Given the description of an element on the screen output the (x, y) to click on. 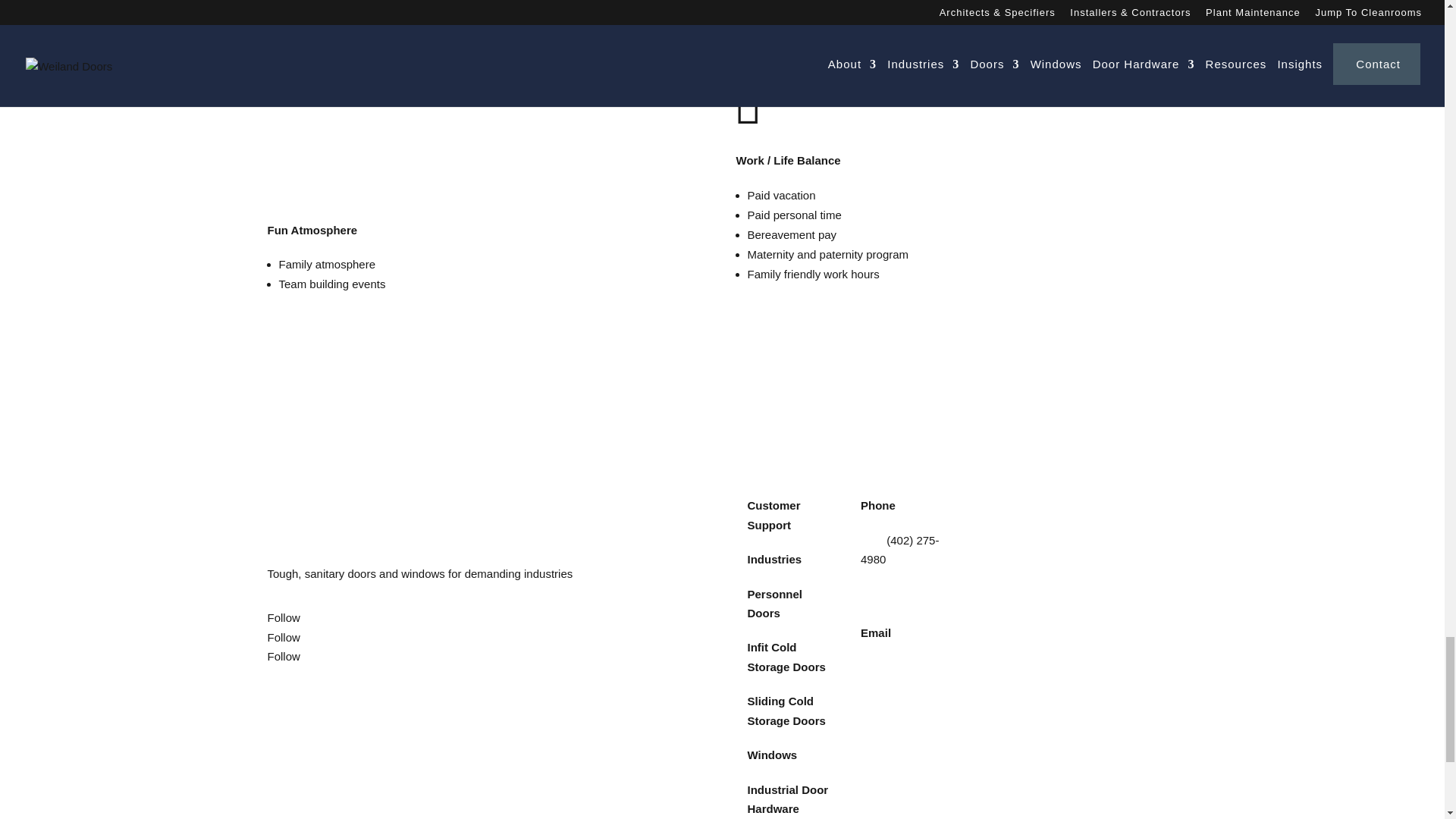
Follow on LinkedIn (282, 636)
Follow on Facebook (282, 617)
Follow on Youtube (282, 656)
